Given the description of an element on the screen output the (x, y) to click on. 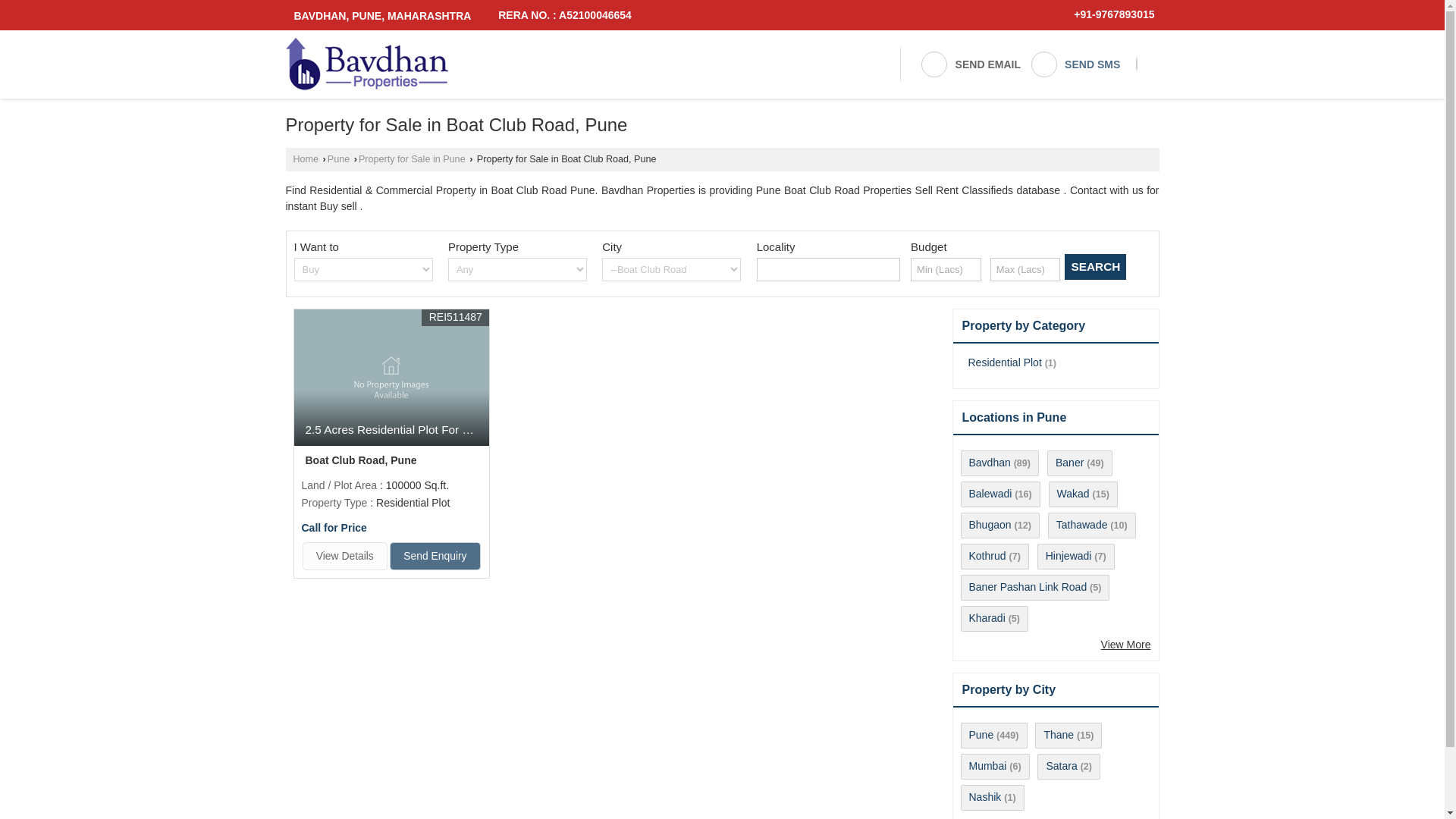
SEND SMS (1075, 64)
SEND EMAIL (970, 64)
Bavdhan Properties (365, 63)
SEARCH (1094, 266)
